Given the description of an element on the screen output the (x, y) to click on. 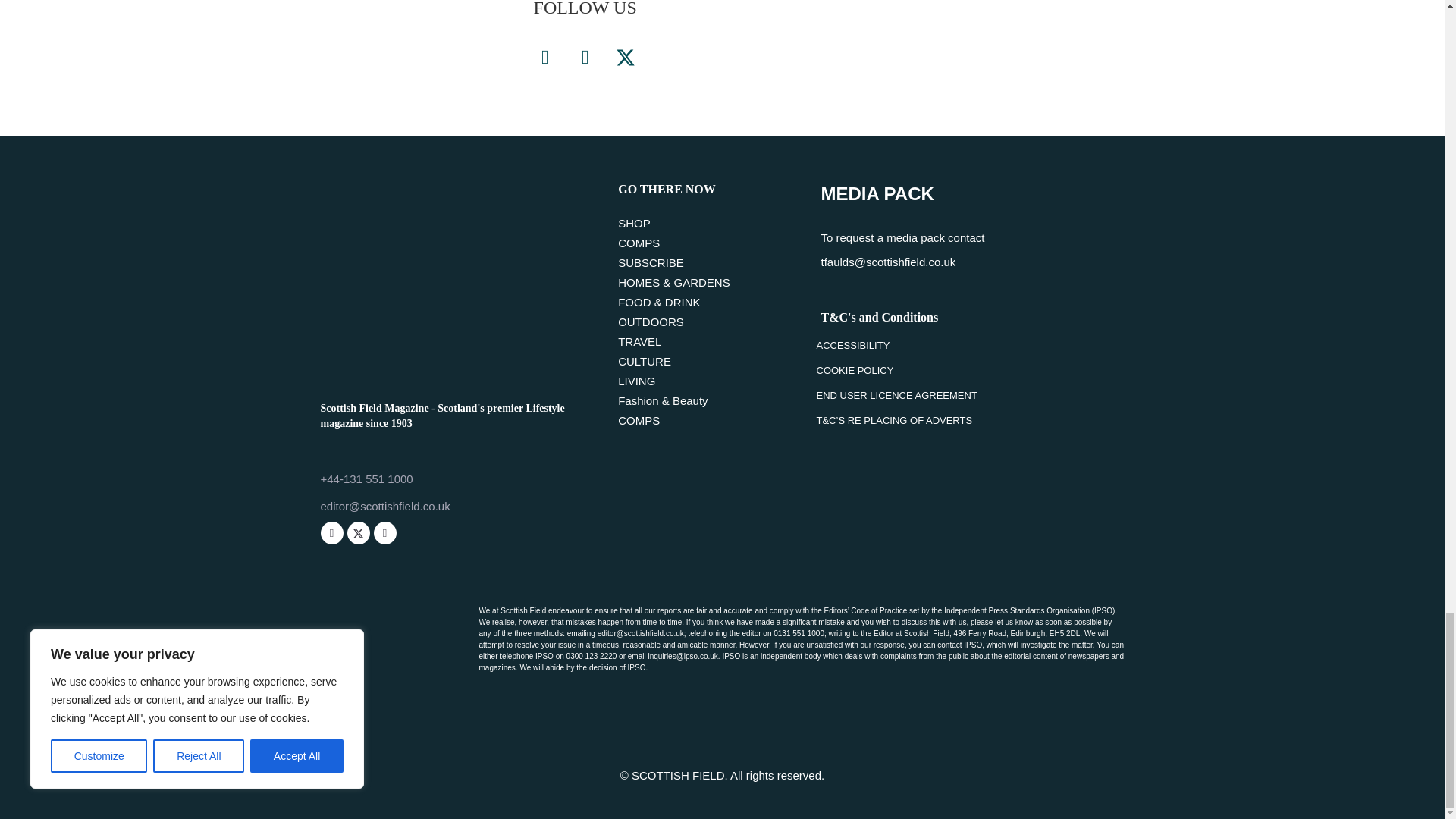
Facebook (544, 57)
Instagram (584, 57)
Facebook (331, 532)
Instagram (384, 532)
